Given the description of an element on the screen output the (x, y) to click on. 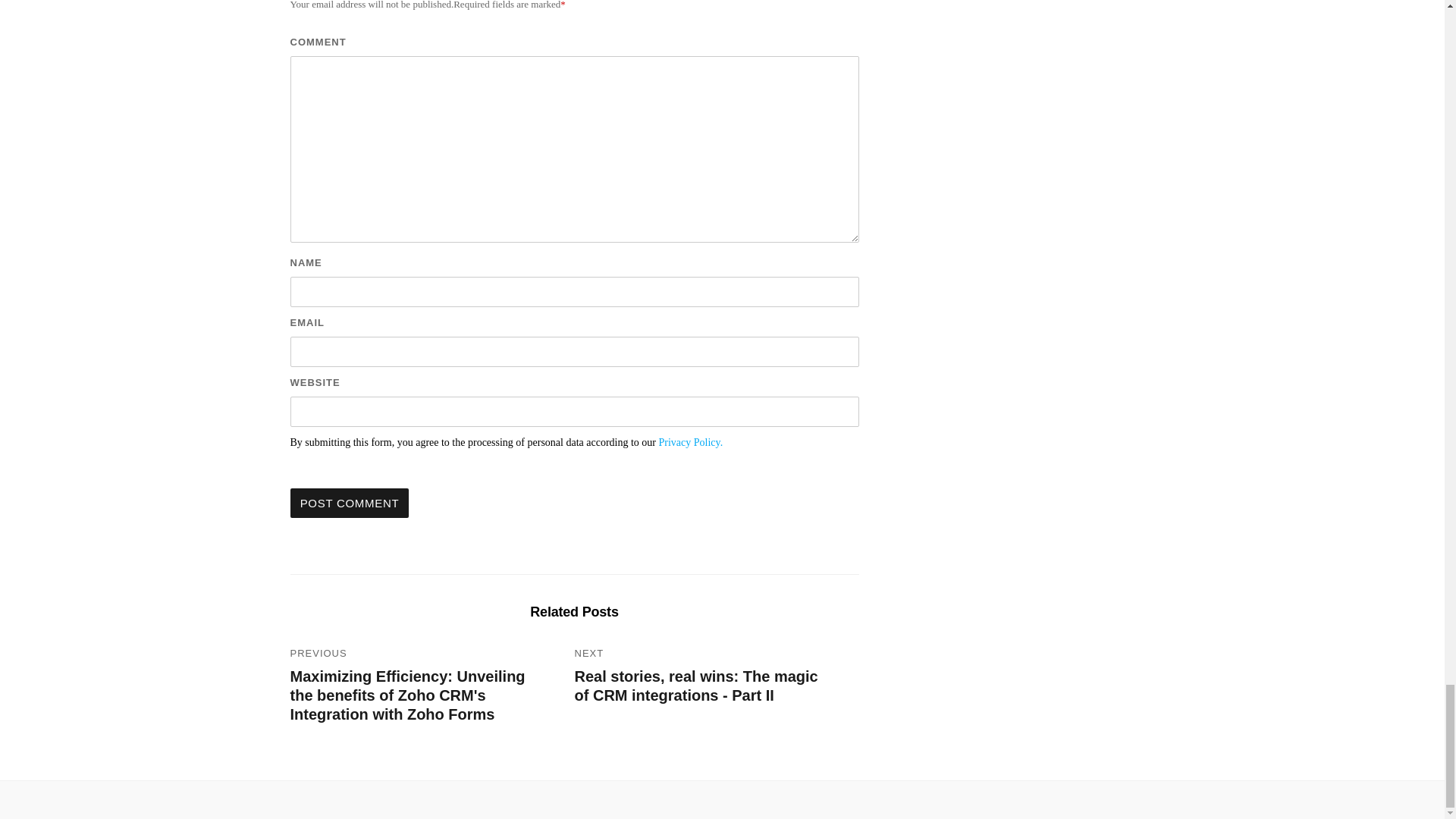
Post Comment (349, 502)
Privacy Policy. (691, 441)
Post Comment (349, 502)
